Given the description of an element on the screen output the (x, y) to click on. 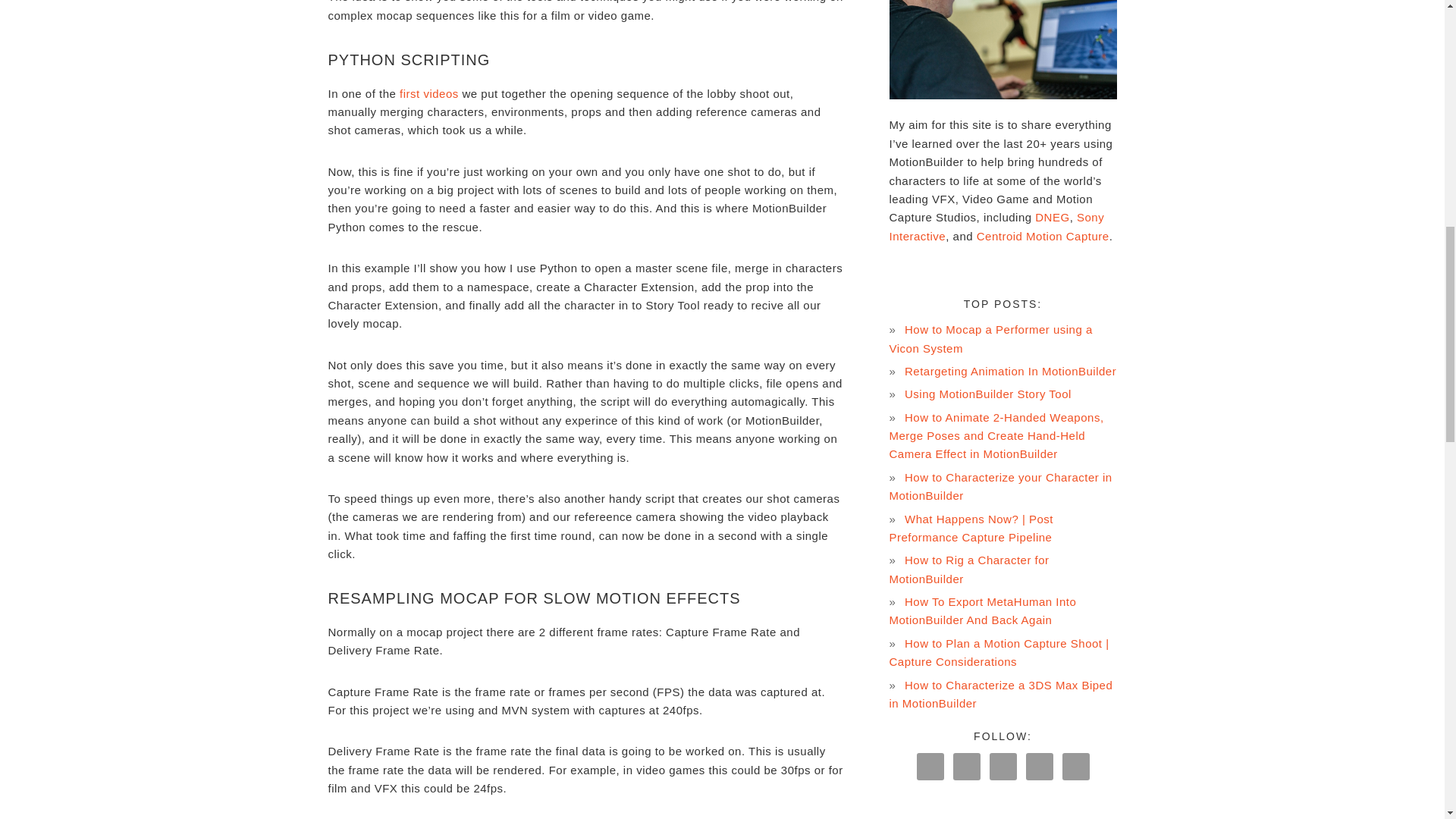
Using MotionBuilder Story Tool (987, 393)
first videos (428, 92)
How to Characterize a 3DS Max Biped in MotionBuilder (1000, 693)
Retargeting Animation In MotionBuilder (1010, 370)
How to Rig a Character for MotionBuilder (968, 568)
DNEG (1051, 216)
Centroid Motion Capture (1042, 236)
How to Mocap a Performer using a Vicon System (990, 337)
Sony Interactive (995, 225)
